Given the description of an element on the screen output the (x, y) to click on. 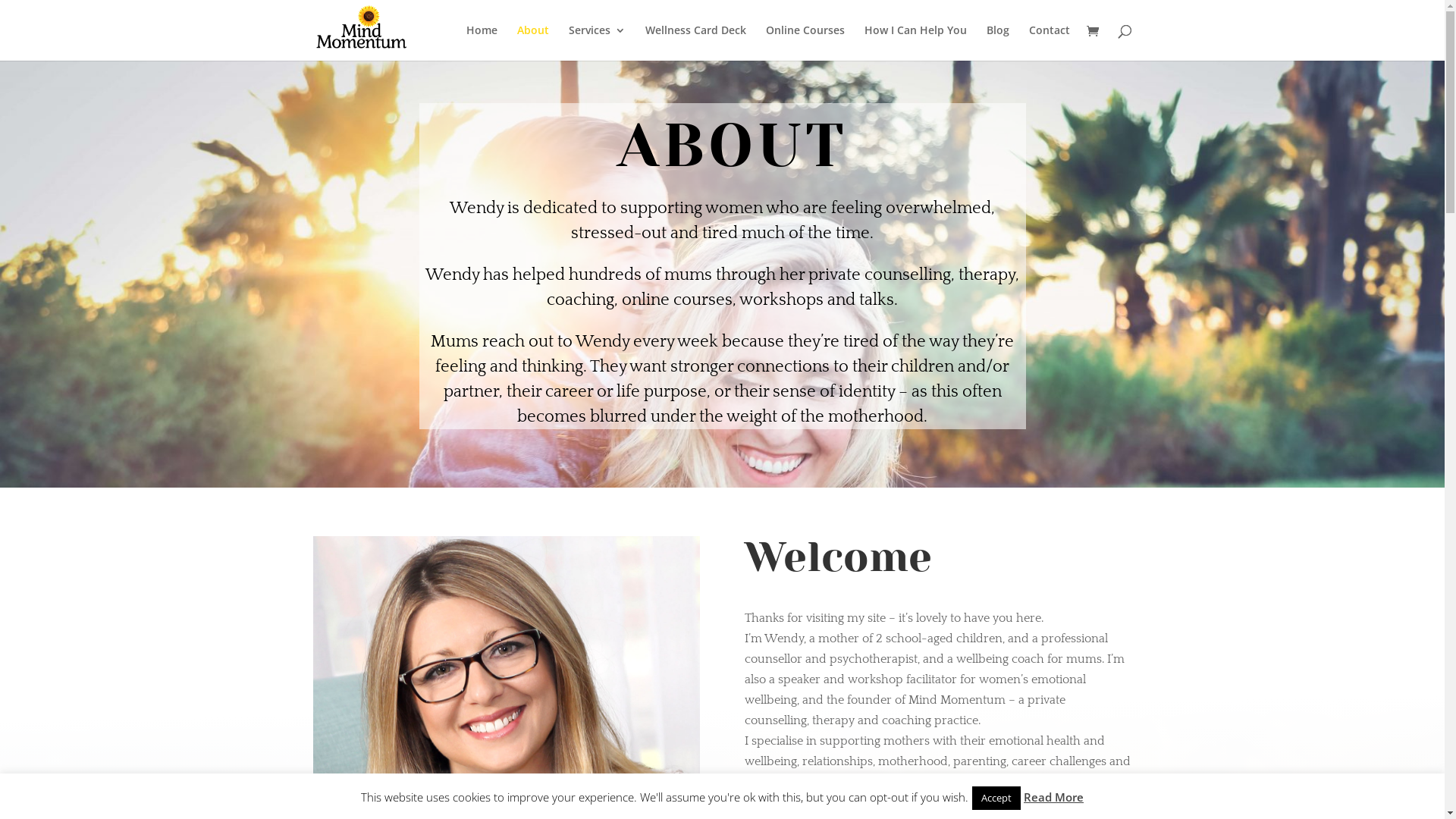
Services Element type: text (596, 42)
Accept Element type: text (996, 797)
About Element type: text (533, 42)
Wellness Card Deck Element type: text (694, 42)
Home Element type: text (480, 42)
Online Courses Element type: text (804, 42)
Read More Element type: text (1053, 797)
How I Can Help You Element type: text (915, 42)
Blog Element type: text (996, 42)
Contact Element type: text (1048, 42)
